Given the description of an element on the screen output the (x, y) to click on. 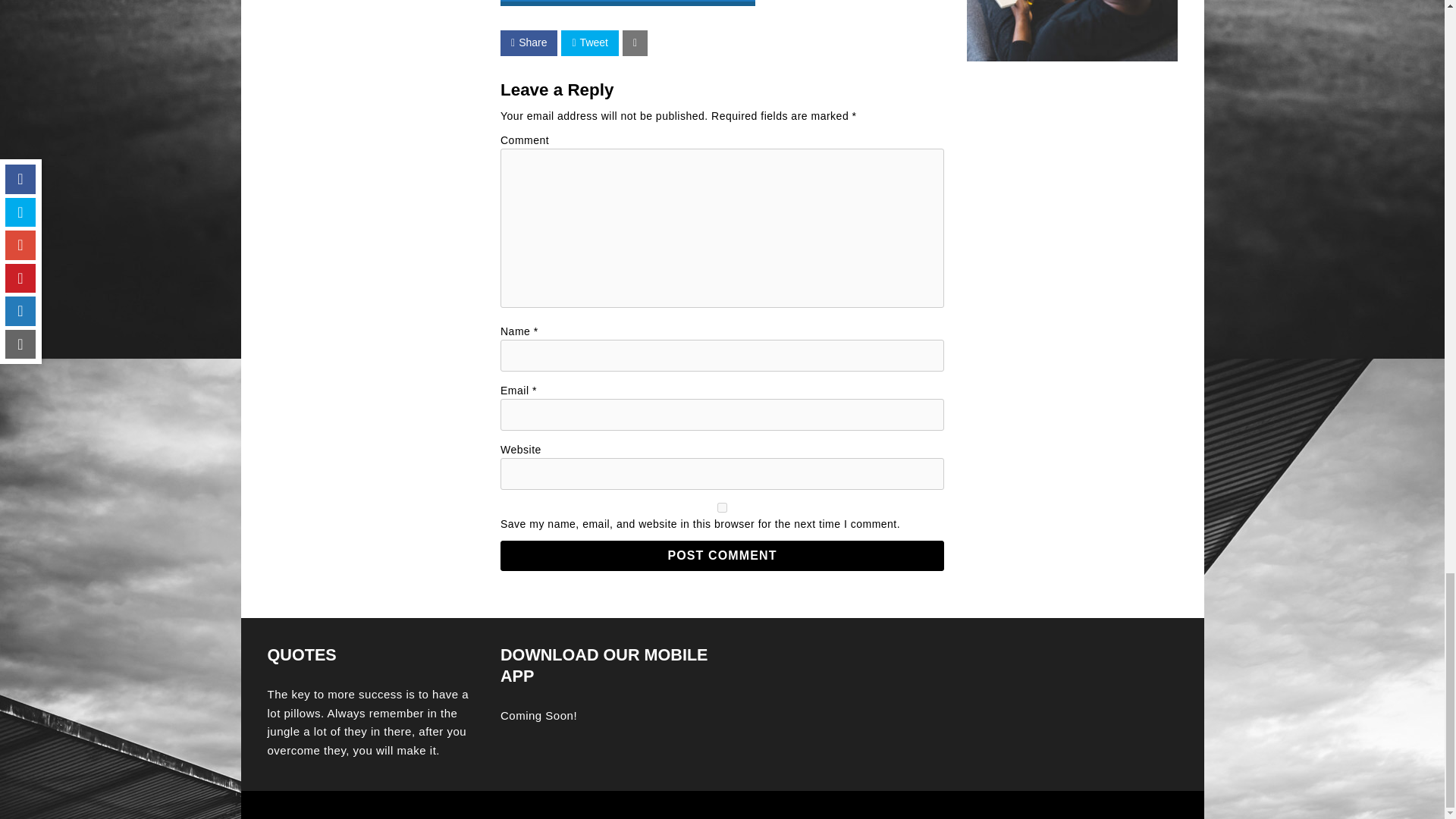
Tweet (588, 43)
Share (528, 43)
How to Start an Online Business (627, 2)
yes (721, 507)
How to Start an Online Business (627, 4)
Share On Facebook (528, 43)
Post Comment (721, 555)
Tweet on Twitter (588, 43)
Post Comment (721, 555)
